Given the description of an element on the screen output the (x, y) to click on. 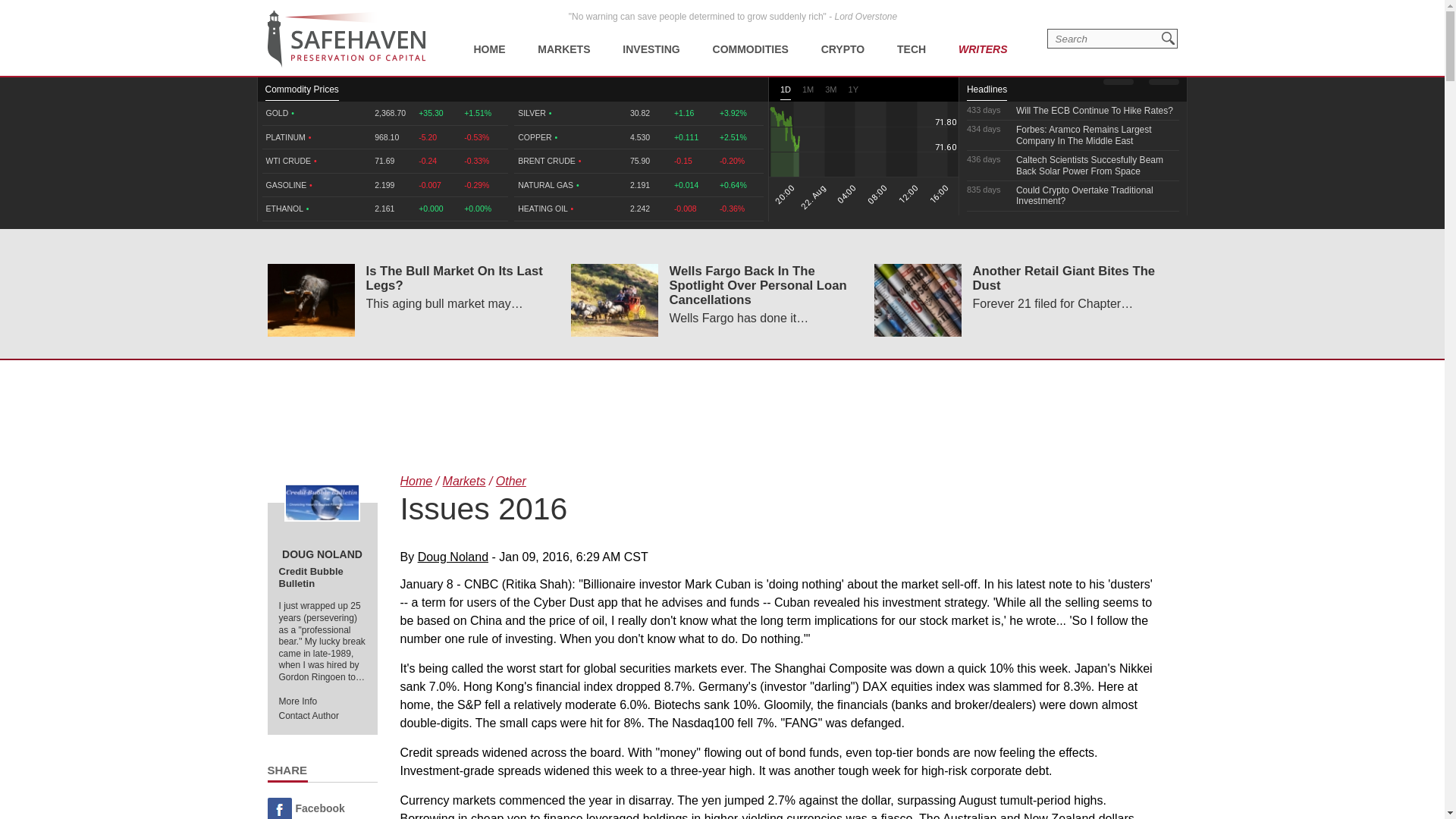
Another Retail Giant Bites The Dust (916, 299)
Commodity Prices (301, 92)
INVESTING (650, 38)
Doug Noland (321, 502)
Oil prices - Oilprice.com (345, 38)
Headlines (986, 92)
COMMODITIES (750, 38)
Is The Bull Market On Its Last Legs? (309, 299)
